Given the description of an element on the screen output the (x, y) to click on. 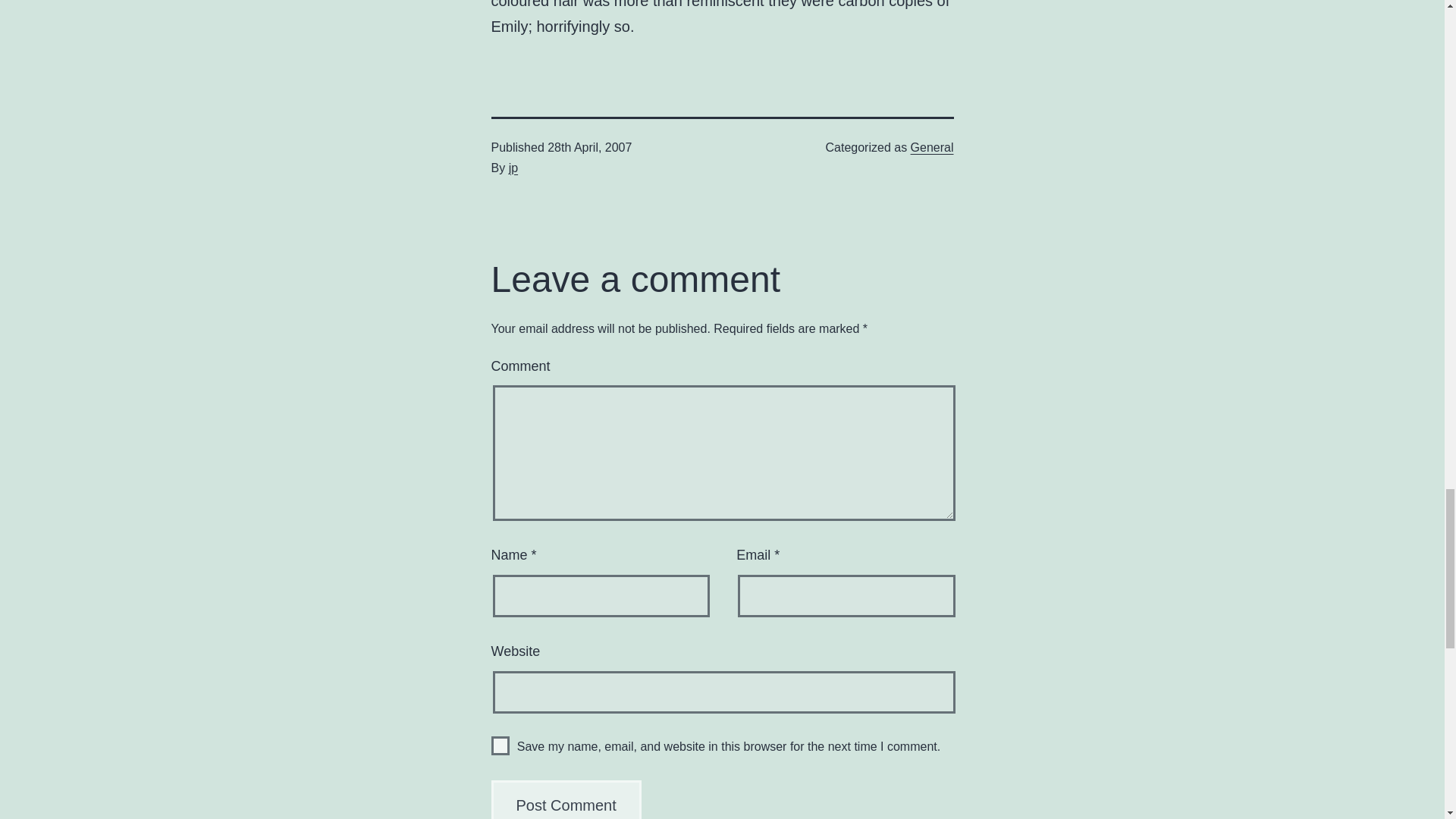
Post Comment (567, 799)
yes (500, 745)
General (932, 146)
Post Comment (567, 799)
